Given the description of an element on the screen output the (x, y) to click on. 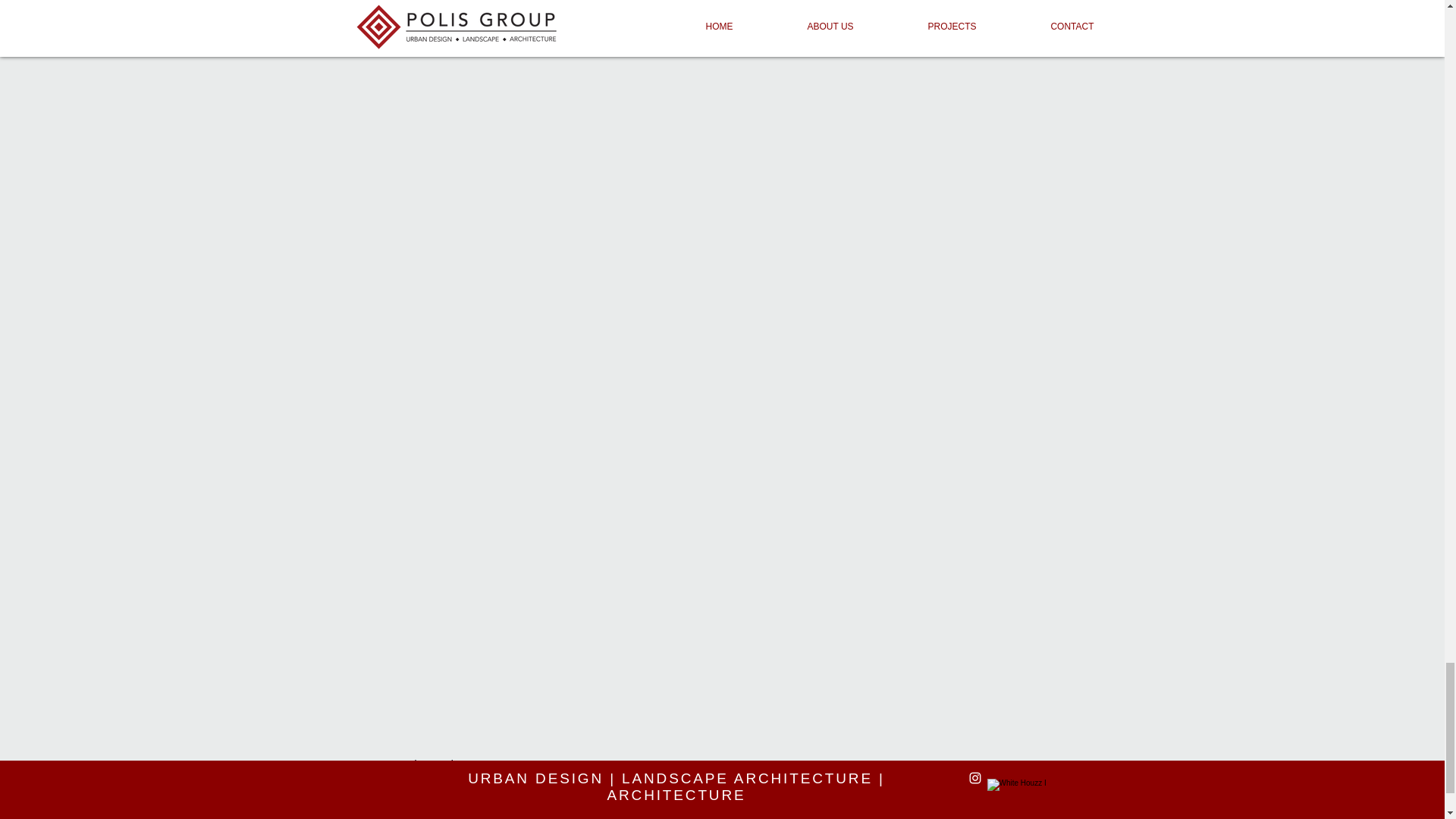
Back to top (720, 814)
Back to Projects page (447, 764)
